Given the description of an element on the screen output the (x, y) to click on. 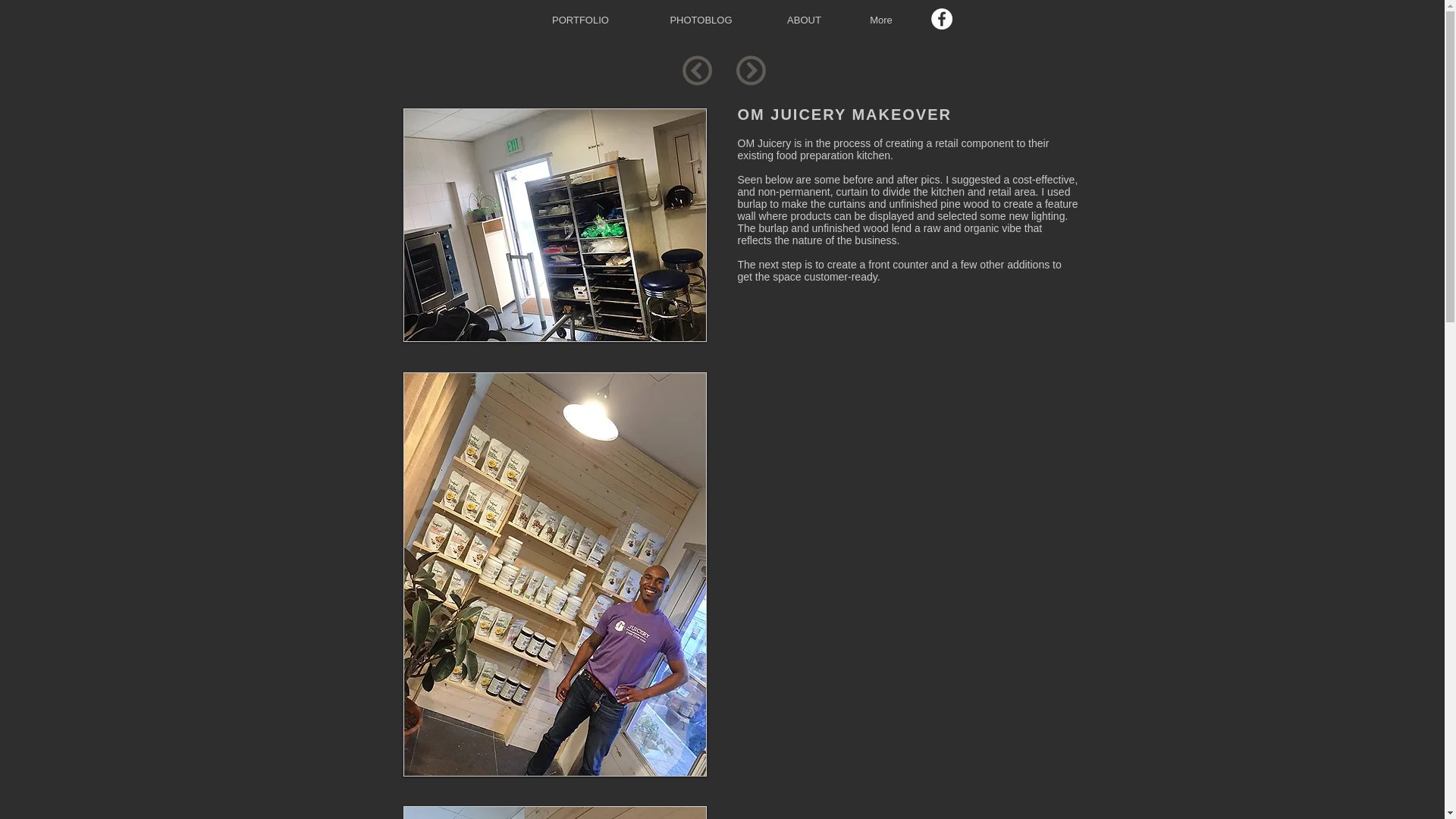
PHOTOBLOG (700, 20)
ABOUT (803, 20)
PORTFOLIO (580, 20)
